Given the description of an element on the screen output the (x, y) to click on. 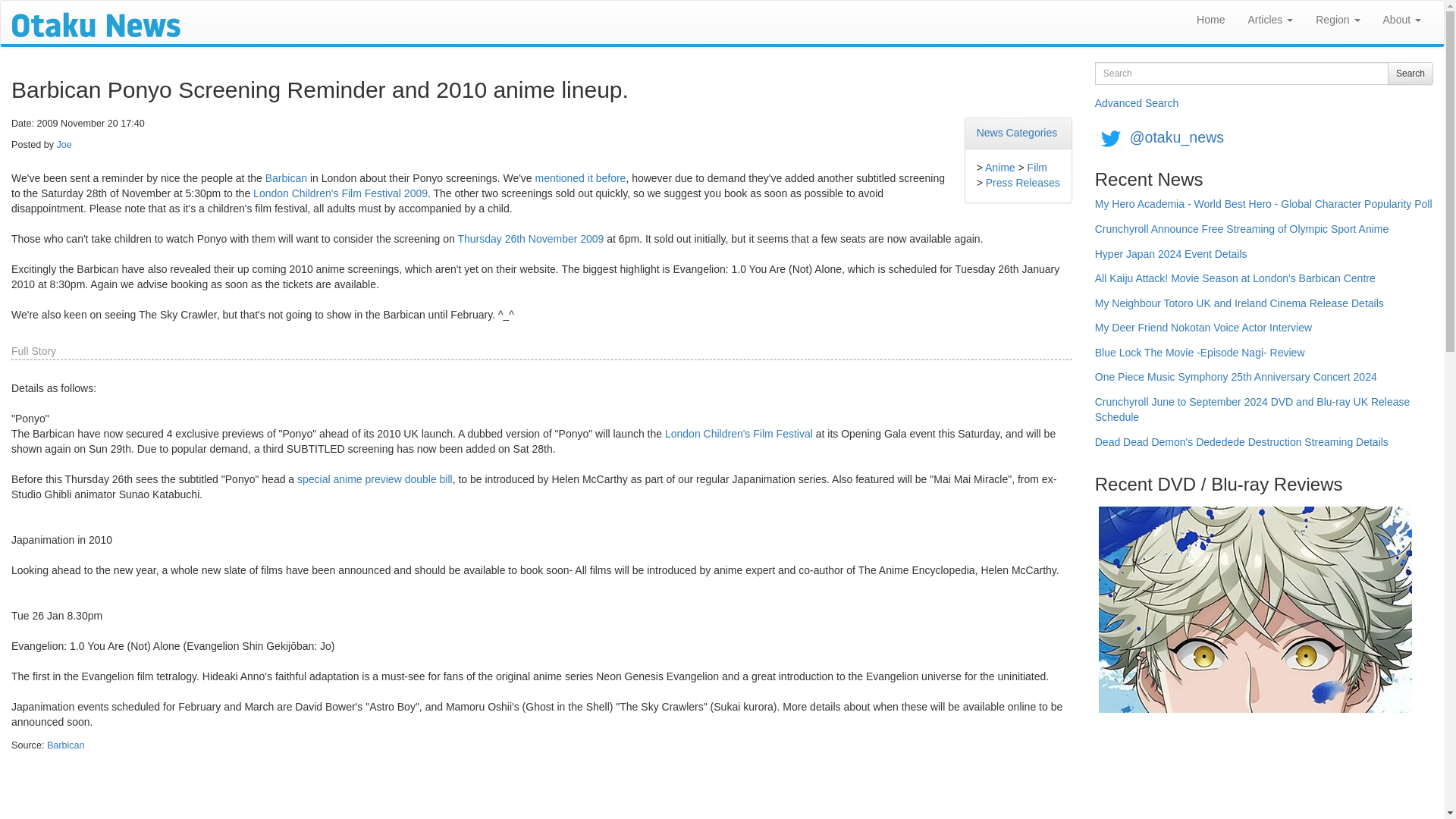
London Children's Film Festival (738, 433)
Crunchyroll Announce Free Streaming of Olympic Sport Anime (1241, 234)
News Categories (1017, 132)
Thursday 26th November 2009 (530, 238)
Home (1210, 19)
London Children's Film Festival 2009 (340, 193)
Hyper Japan 2024 Event Details (1170, 259)
mentioned it before (580, 177)
Search (1409, 73)
Barbican (285, 177)
Press Releases (1022, 182)
About (1401, 19)
Joe (63, 144)
Region (1337, 19)
